Given the description of an element on the screen output the (x, y) to click on. 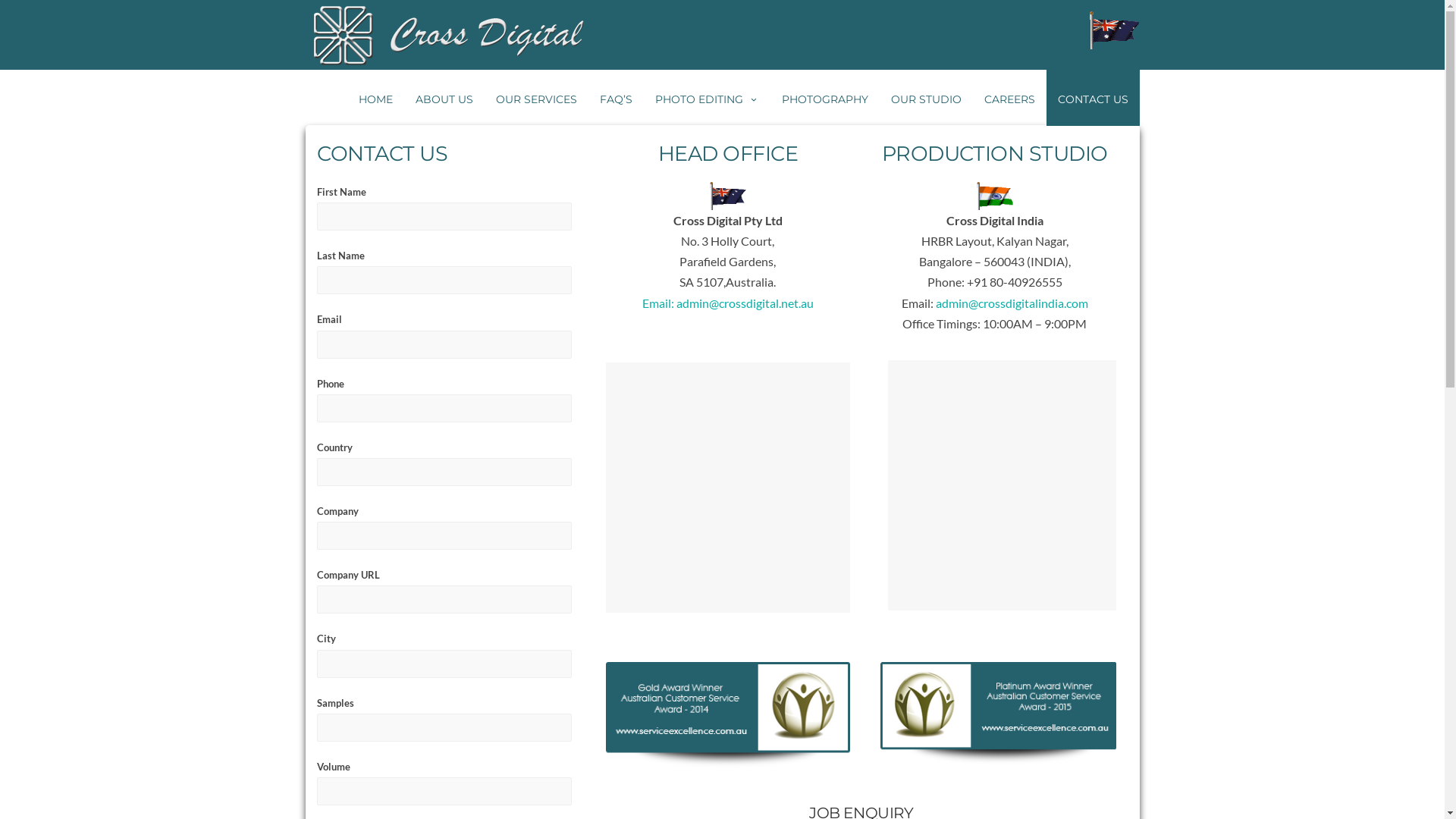
CAREERS Element type: text (1008, 97)
HOME Element type: text (375, 97)
OUR SERVICES Element type: text (535, 97)
PHOTO EDITING Element type: text (706, 97)
CONTACT US Element type: text (1092, 97)
OUR STUDIO Element type: text (925, 97)
ABOUT US Element type: text (443, 97)
Email: admin@crossdigital.net.au Element type: text (727, 302)
PHOTOGRAPHY Element type: text (824, 97)
admin@crossdigitalindia.com Element type: text (1011, 302)
